Given the description of an element on the screen output the (x, y) to click on. 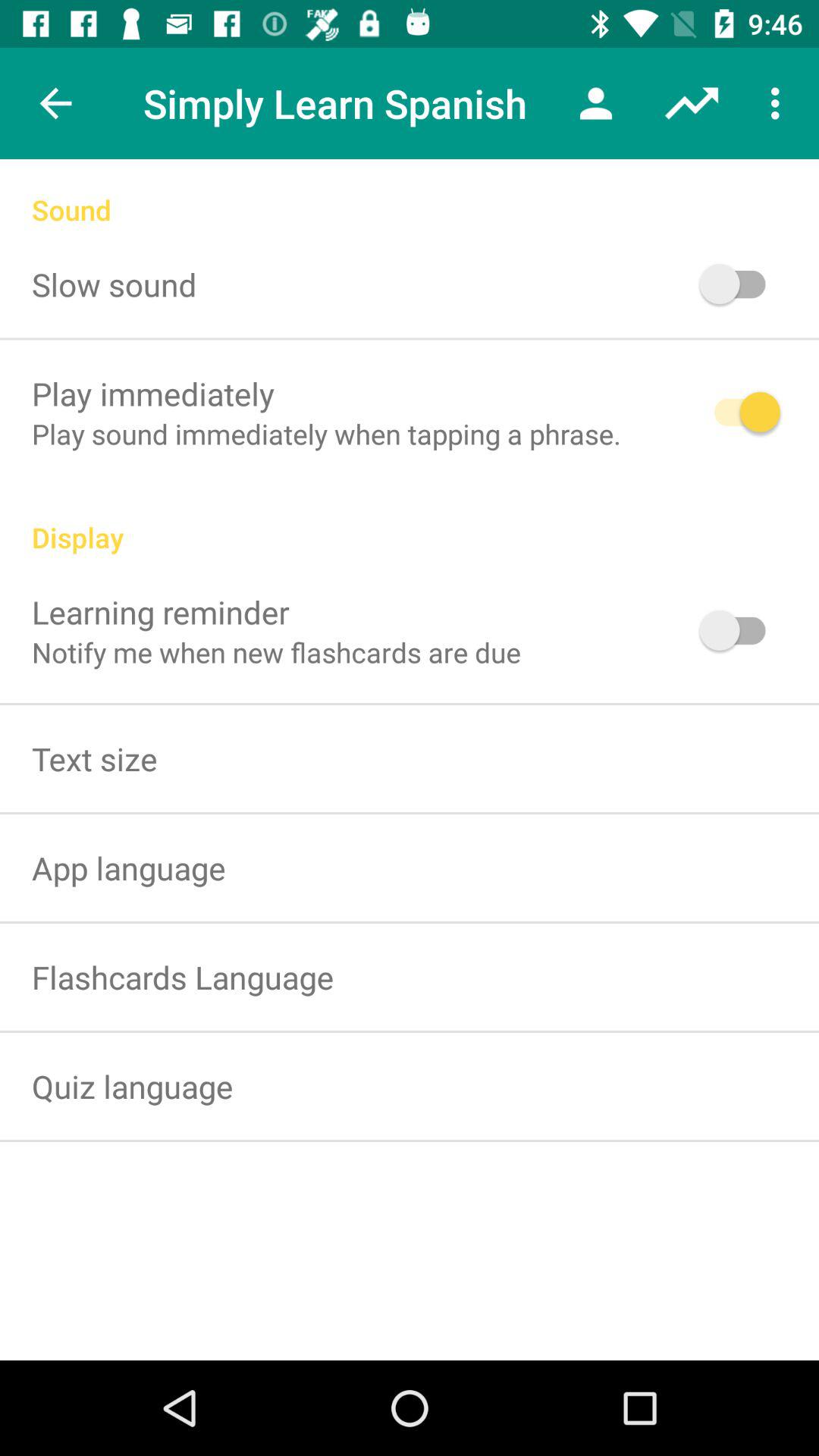
tap the display icon (409, 521)
